Given the description of an element on the screen output the (x, y) to click on. 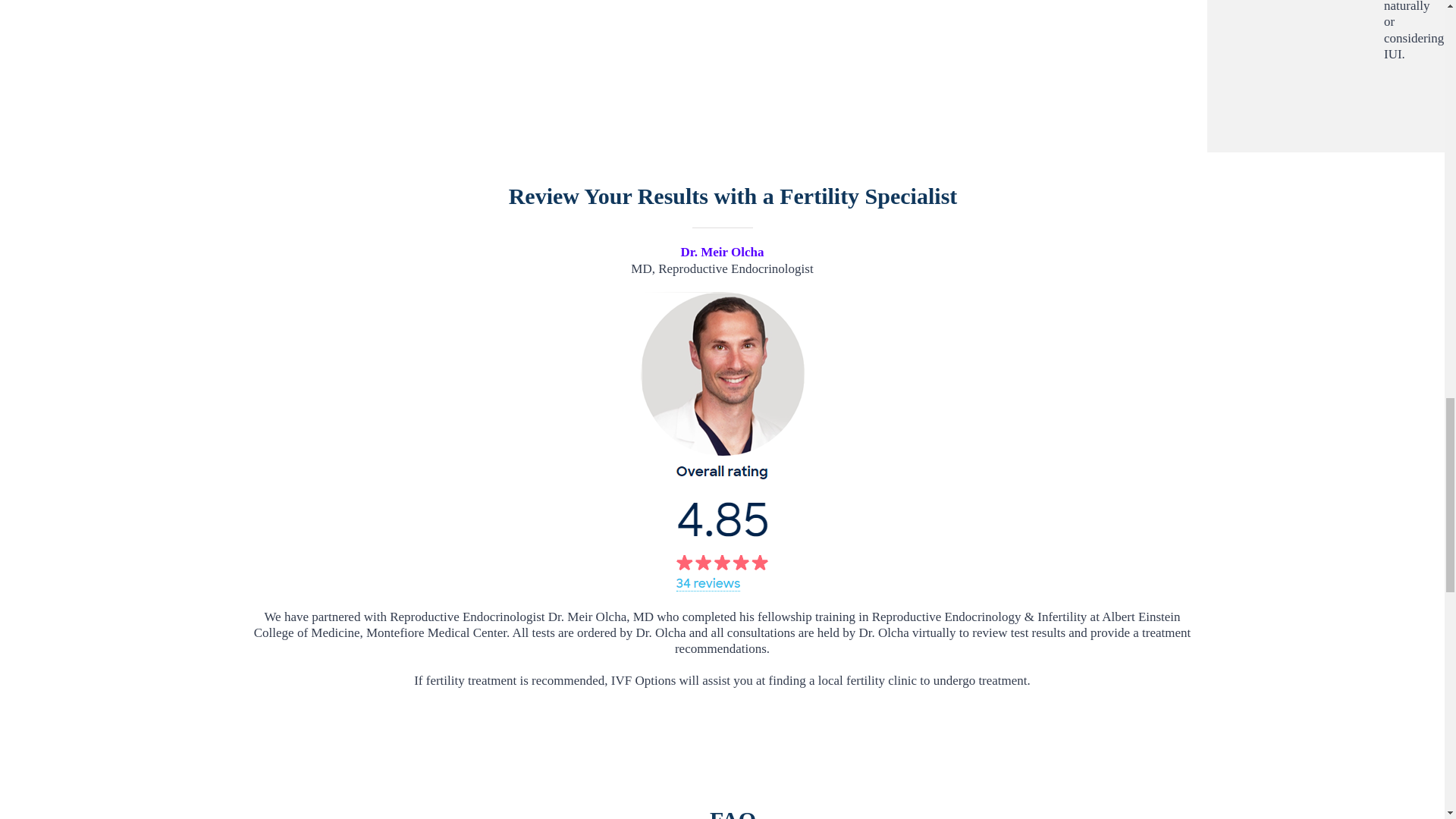
dr meir olcha ivf options head shot (721, 373)
